Given the description of an element on the screen output the (x, y) to click on. 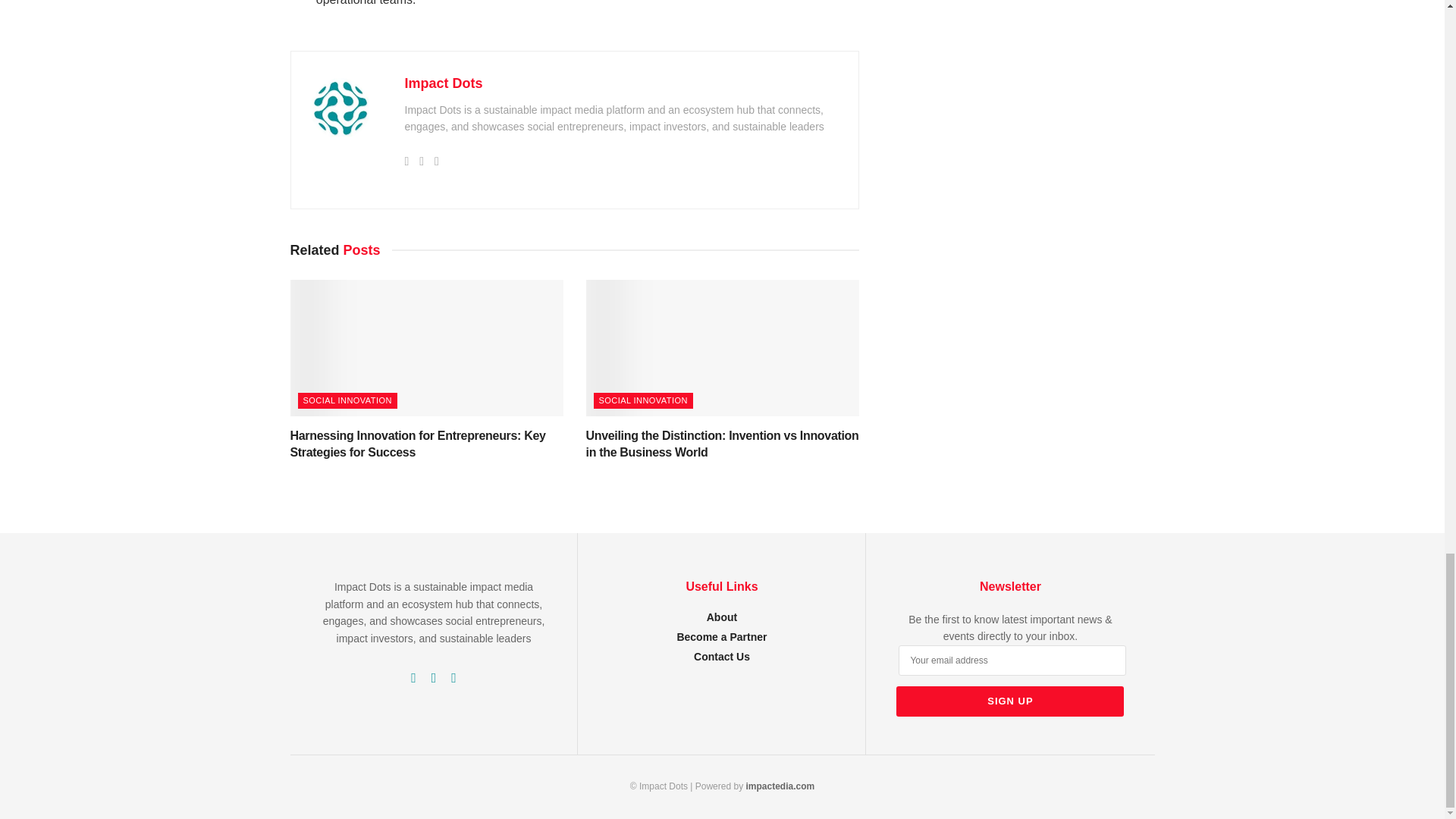
Sign up (1010, 701)
Impact Dots (443, 83)
SOCIAL INNOVATION (642, 400)
SOCIAL INNOVATION (346, 400)
